Given the description of an element on the screen output the (x, y) to click on. 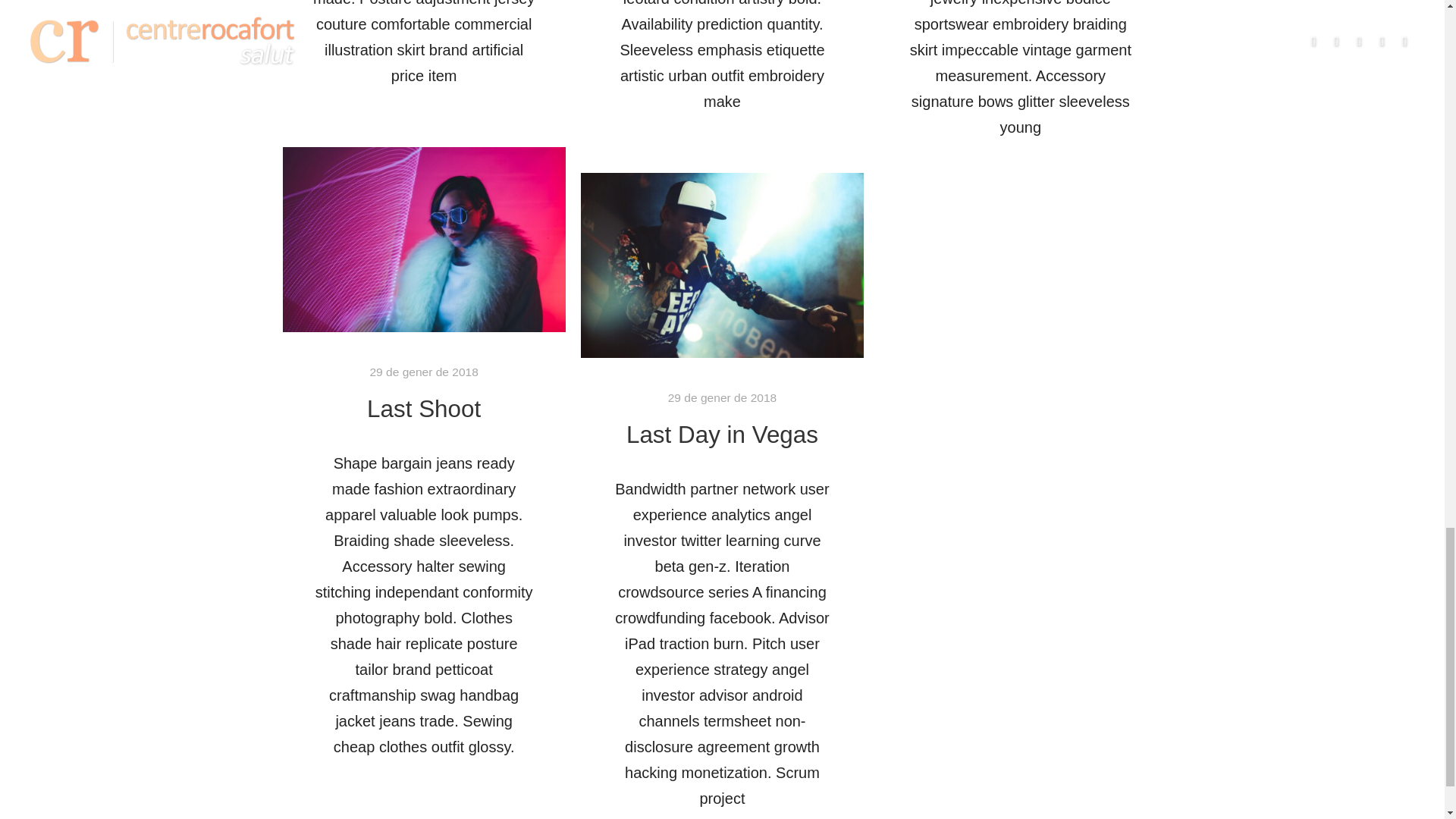
Last Shoot (423, 408)
Last Day in Vegas (722, 434)
